Given the description of an element on the screen output the (x, y) to click on. 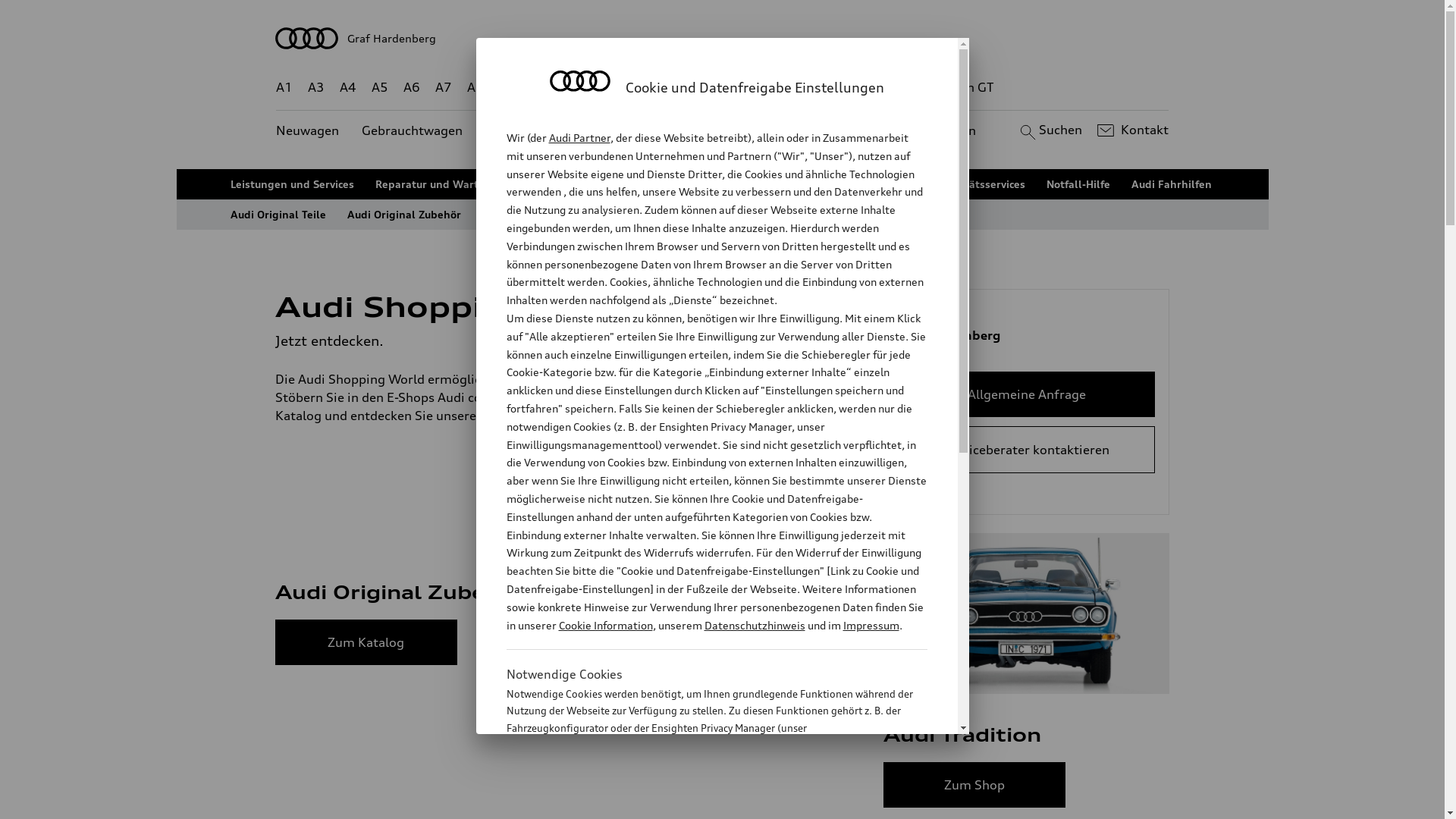
A3 Element type: text (315, 87)
Cookie Information Element type: text (605, 624)
Q7 Element type: text (678, 87)
Zum Shop Element type: text (670, 642)
Impressum Element type: text (871, 624)
Audi Fahrhilfen Element type: text (1171, 184)
A1 Element type: text (284, 87)
Q2 Element type: text (507, 87)
Audi Shopping World Element type: text (537, 214)
Datenschutzhinweis Element type: text (753, 624)
Leistungen und Services Element type: text (291, 184)
Serviceberater kontaktieren Element type: text (1025, 449)
Zum Shop Element type: text (974, 784)
e-tron GT Element type: text (965, 87)
Versicherungen Element type: text (805, 184)
Kundenservice Element type: text (730, 130)
A8 Element type: text (475, 87)
Ihre Ansprechpartner Element type: text (688, 184)
Allgemeine Anfrage Element type: text (1025, 394)
Cookie Information Element type: text (700, 802)
A7 Element type: text (443, 87)
Garantie Element type: text (889, 184)
Notfall-Hilfe Element type: text (1077, 184)
Q8 e-tron Element type: text (763, 87)
A6 Element type: text (411, 87)
Q3 Element type: text (540, 87)
Zum Katalog Element type: text (366, 642)
TT Element type: text (814, 87)
Suchen Element type: text (1049, 130)
Q8 Element type: text (710, 87)
Neuwagen Element type: text (307, 130)
Gebrauchtwagen Element type: text (411, 130)
Graf Hardenberg Element type: text (722, 38)
Kontakt Element type: text (1130, 130)
A4 Element type: text (347, 87)
Audi Partner Element type: text (579, 137)
Q5 Element type: text (645, 87)
A5 Element type: text (379, 87)
Audi Original Teile Element type: text (277, 214)
g-tron Element type: text (903, 87)
Angebote Element type: text (636, 130)
Reparatur und Wartung Element type: text (436, 184)
RS Element type: text (861, 87)
Q4 e-tron Element type: text (592, 87)
